Given the description of an element on the screen output the (x, y) to click on. 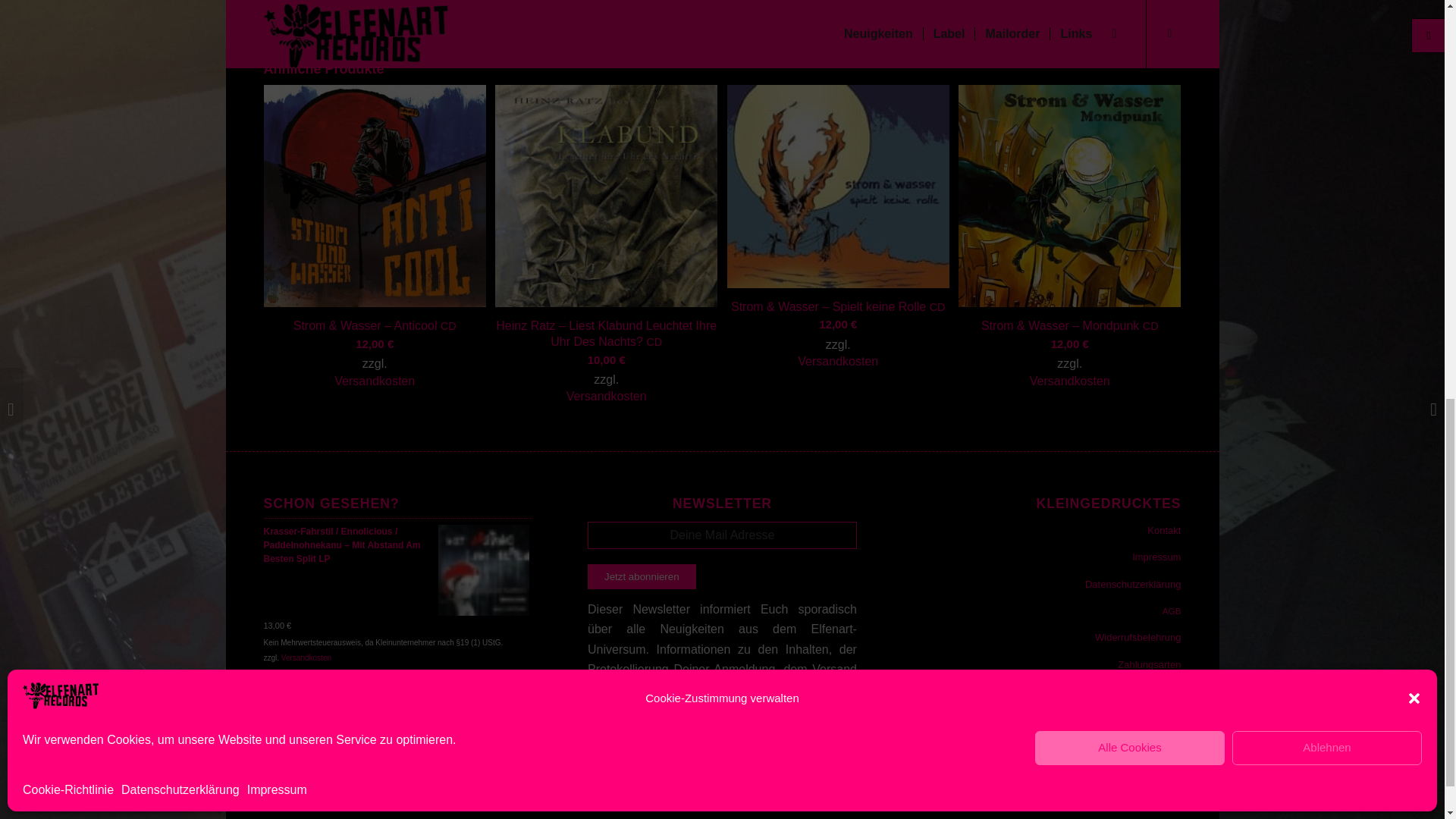
Versandkosten (837, 361)
Jetzt abonnieren (641, 576)
Versandkosten (374, 381)
Versandkosten (606, 396)
